Given the description of an element on the screen output the (x, y) to click on. 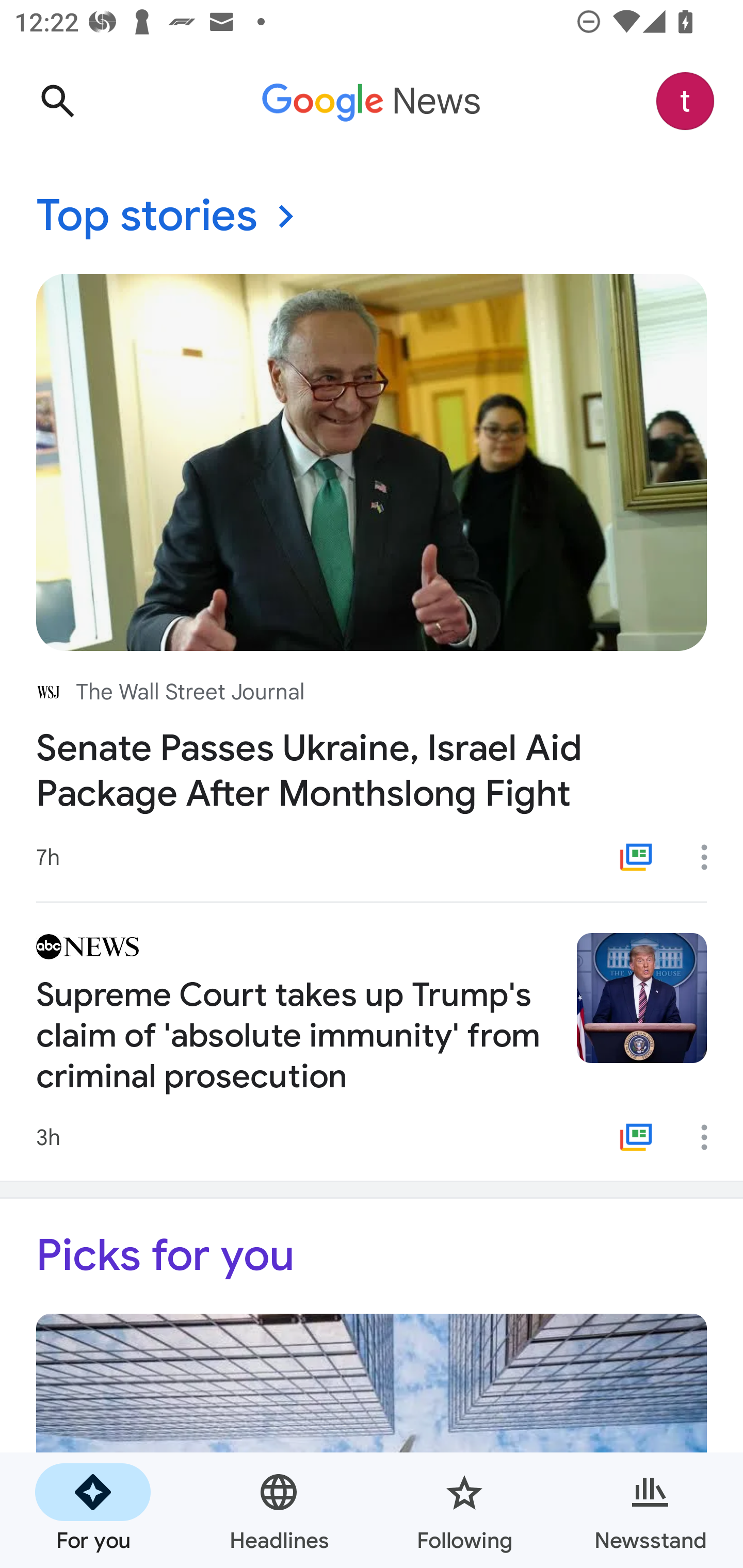
Search (57, 100)
Top stories (371, 216)
More options (711, 856)
More options (711, 1137)
For you (92, 1509)
Headlines (278, 1509)
Following (464, 1509)
Newsstand (650, 1509)
